Given the description of an element on the screen output the (x, y) to click on. 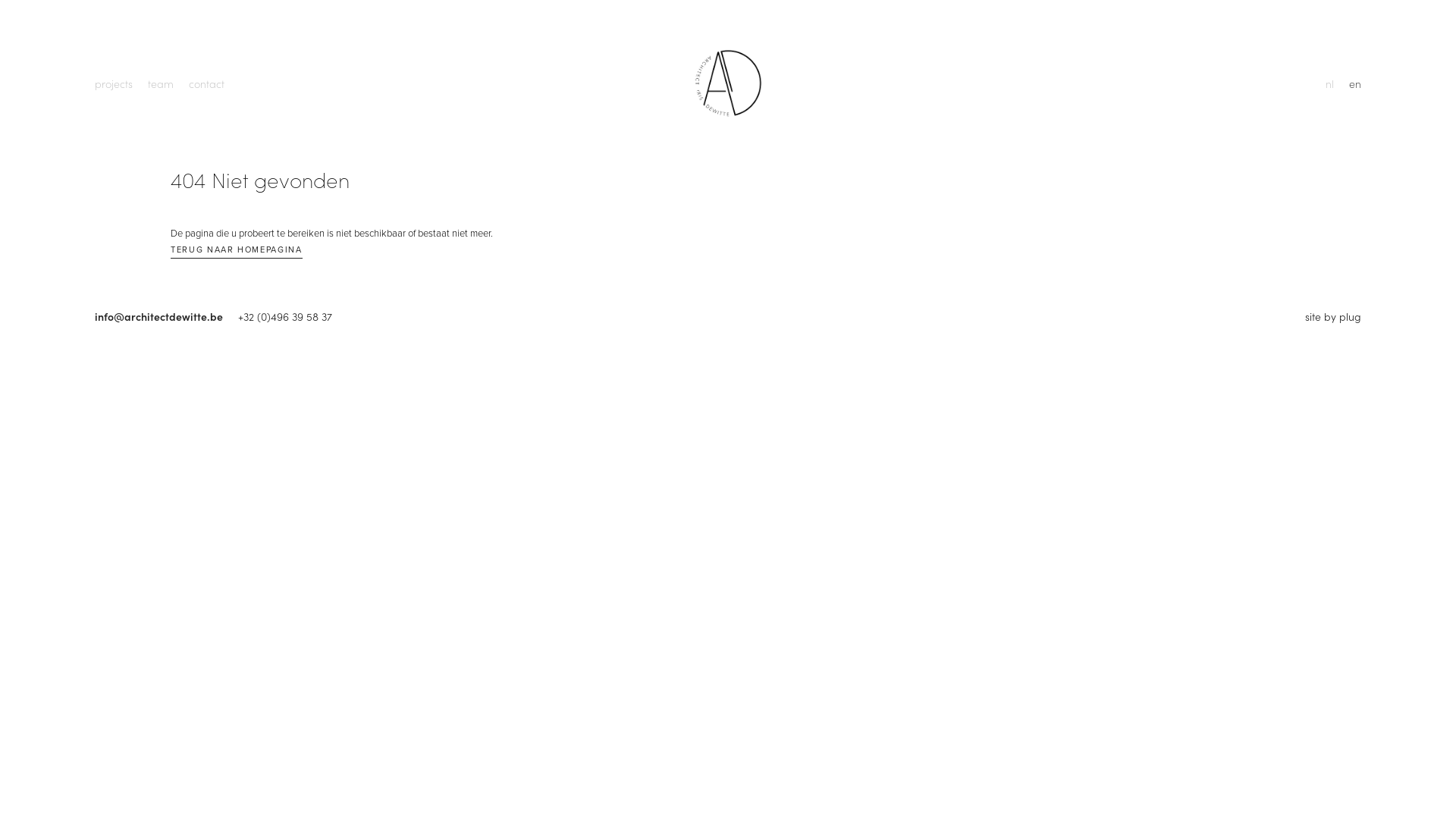
+32 (0)496 39 58 37 Element type: text (285, 315)
contact Element type: text (206, 83)
team Element type: text (160, 83)
TERUG NAAR HOMEPAGINA Element type: text (236, 251)
nl Element type: text (1329, 83)
en Element type: text (1355, 83)
site by plug Element type: text (1333, 315)
projects Element type: text (113, 83)
info@architectdewitte.be Element type: text (166, 315)
